Given the description of an element on the screen output the (x, y) to click on. 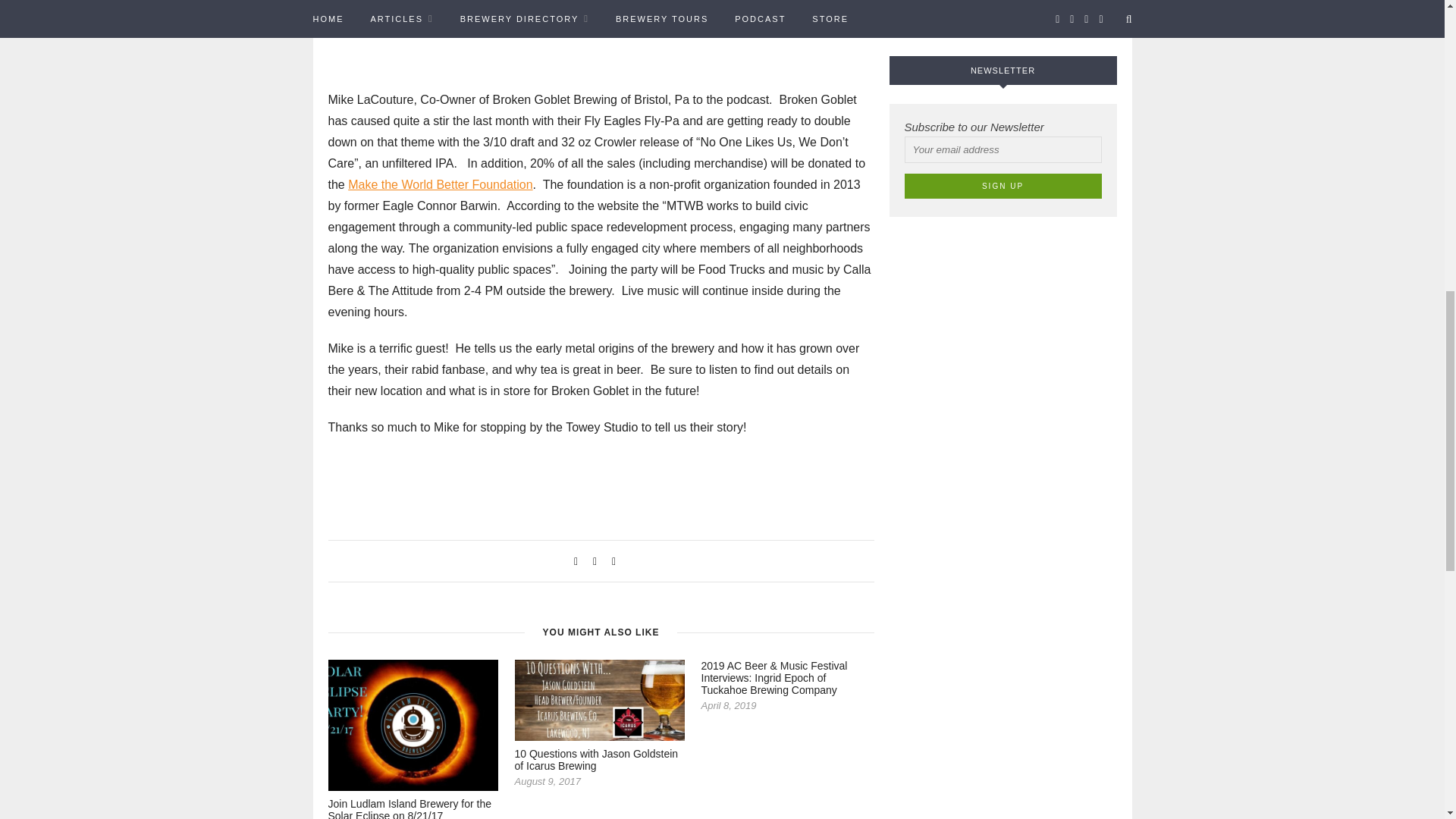
Sign up (1002, 186)
10 Questions with Jason Goldstein of Icarus Brewing (595, 759)
Make the World Better Foundation (439, 184)
